Given the description of an element on the screen output the (x, y) to click on. 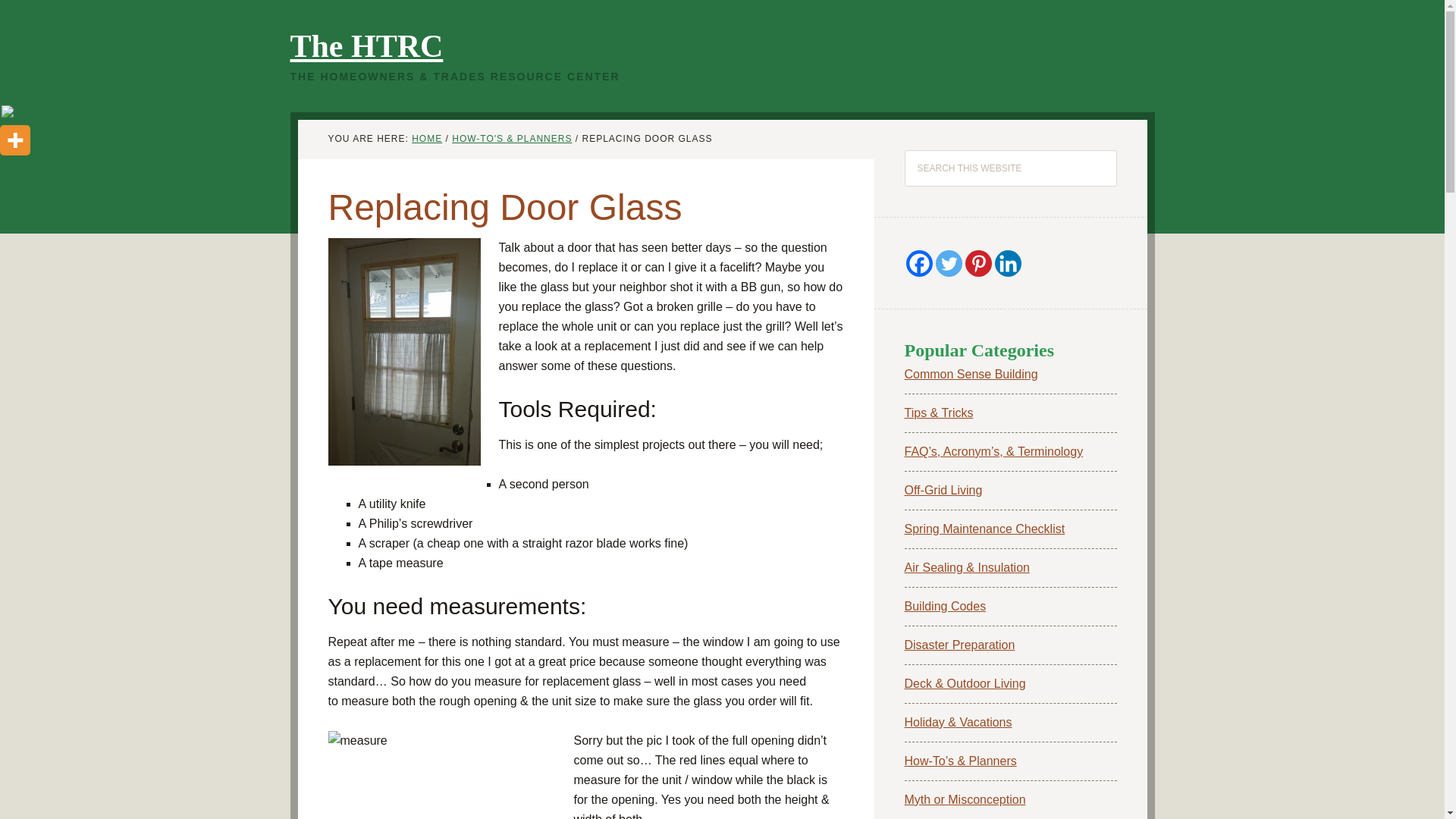
The HTRC (365, 45)
Myth or Misconception (964, 799)
HOME (427, 138)
Tweet (16, 92)
Twitter (949, 263)
Facebook (918, 263)
More (15, 140)
Common Sense Building (970, 373)
Disaster Preparation (959, 644)
Pinterest (977, 263)
Spring Maintenance Checklist (984, 528)
Linkedin (1008, 263)
